Given the description of an element on the screen output the (x, y) to click on. 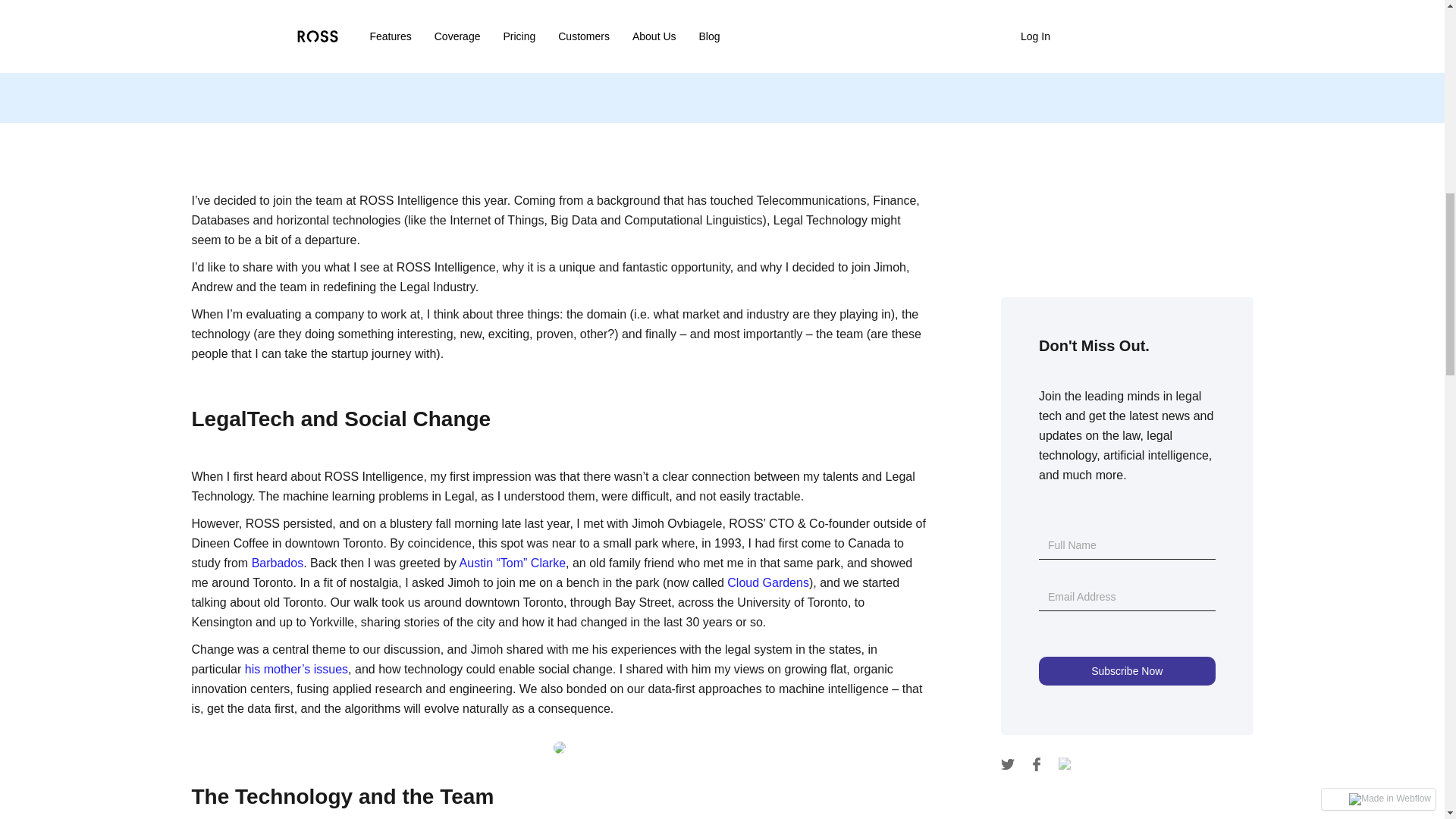
Subscribe Now (1127, 670)
Cloud Gardens (767, 582)
Barbados (277, 562)
Subscribe Now (1127, 670)
